Given the description of an element on the screen output the (x, y) to click on. 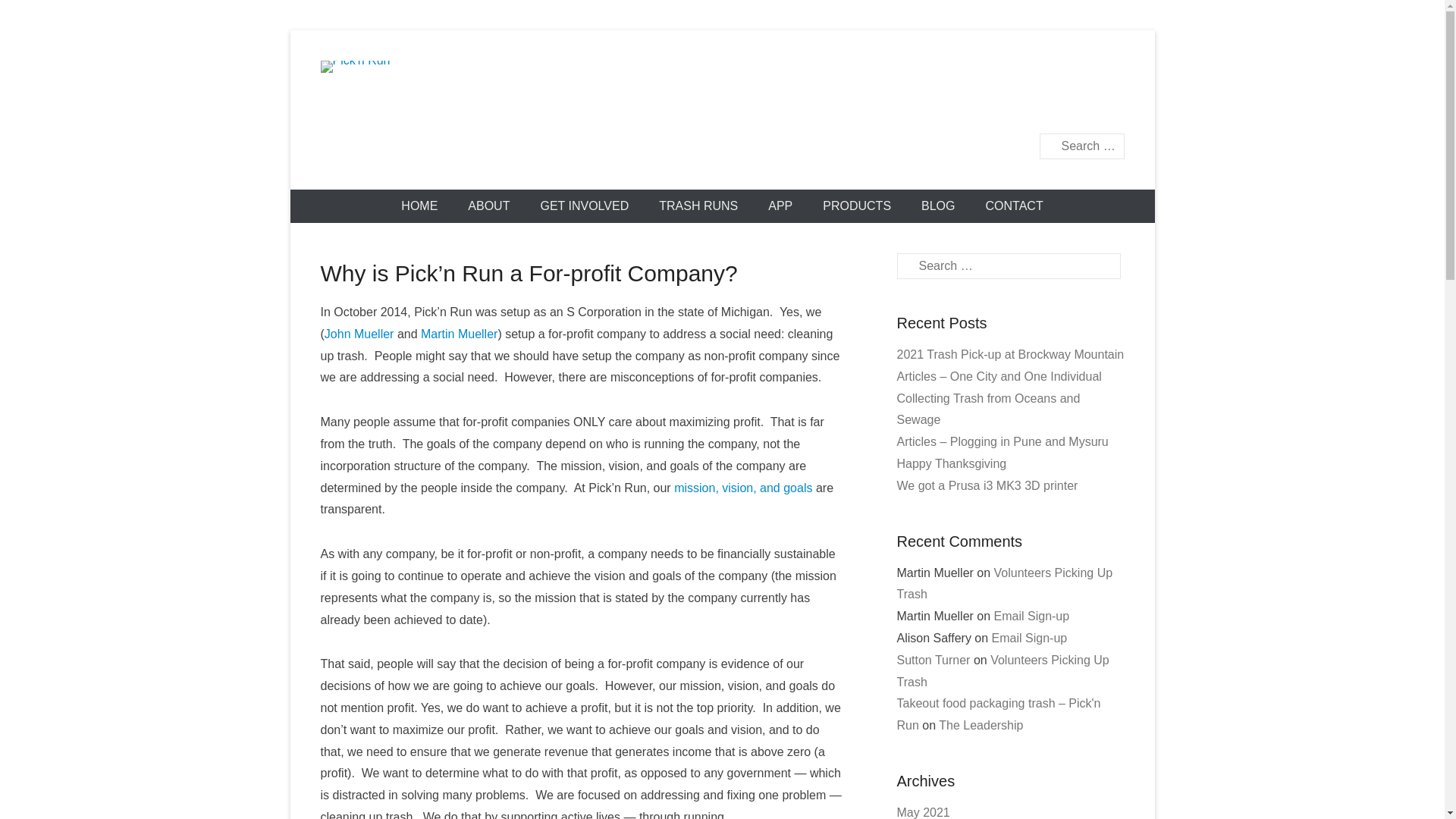
Pinterest (1038, 72)
APP (780, 205)
YouTube (1071, 72)
GitHub (908, 105)
Facebook (908, 72)
GitHub (908, 105)
PRODUCTS (856, 205)
Email (942, 105)
Search (32, 15)
Instagram (1104, 72)
Instagram (1104, 72)
LinkedIn (1007, 72)
Twitter (942, 72)
Pick'n Run (416, 167)
GET INVOLVED (583, 205)
